Given the description of an element on the screen output the (x, y) to click on. 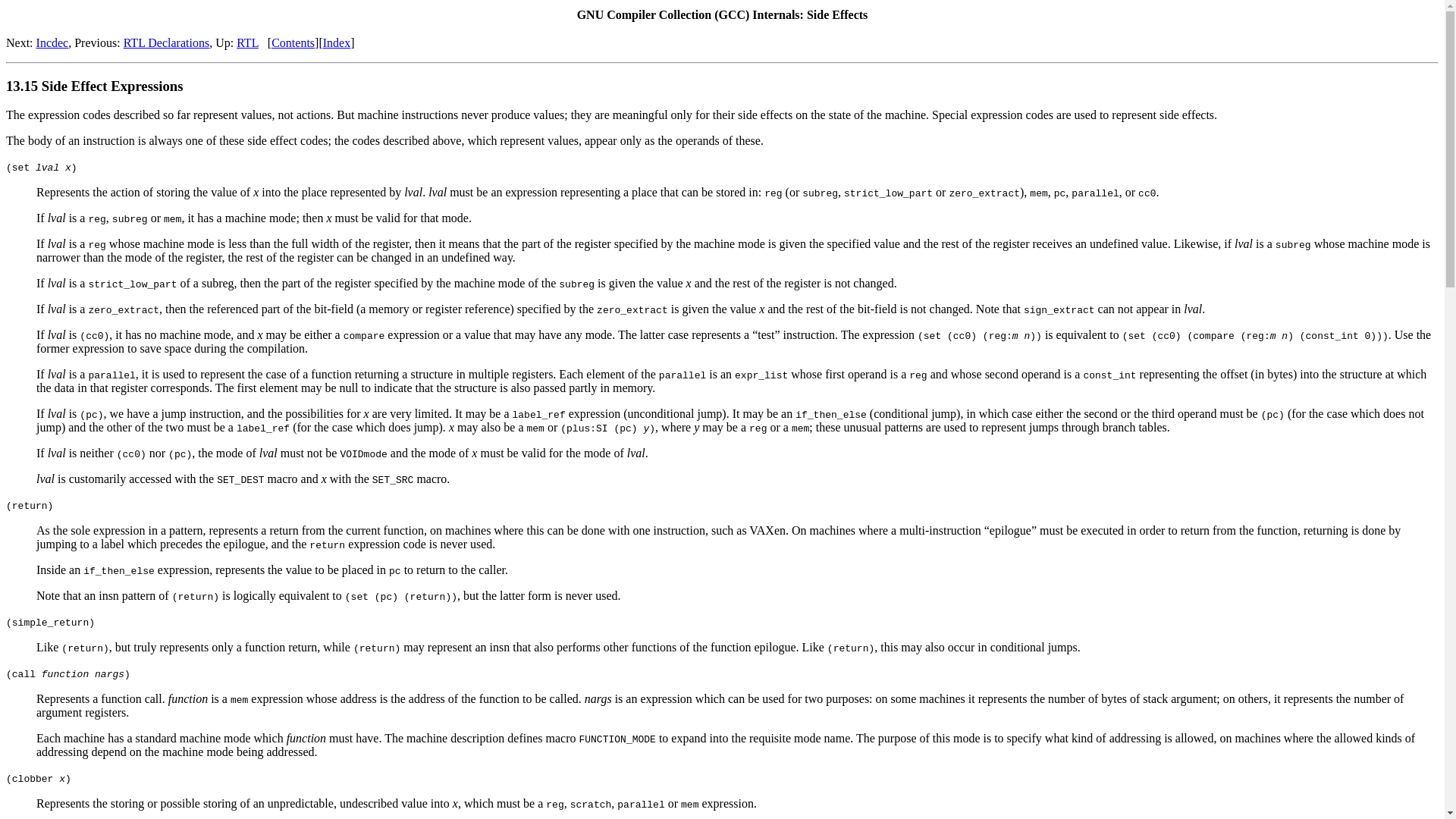
RTL (247, 42)
Index (336, 42)
Index (336, 42)
Contents (292, 42)
Table of contents (292, 42)
RTL Declarations (166, 42)
Incdec (52, 42)
